Given the description of an element on the screen output the (x, y) to click on. 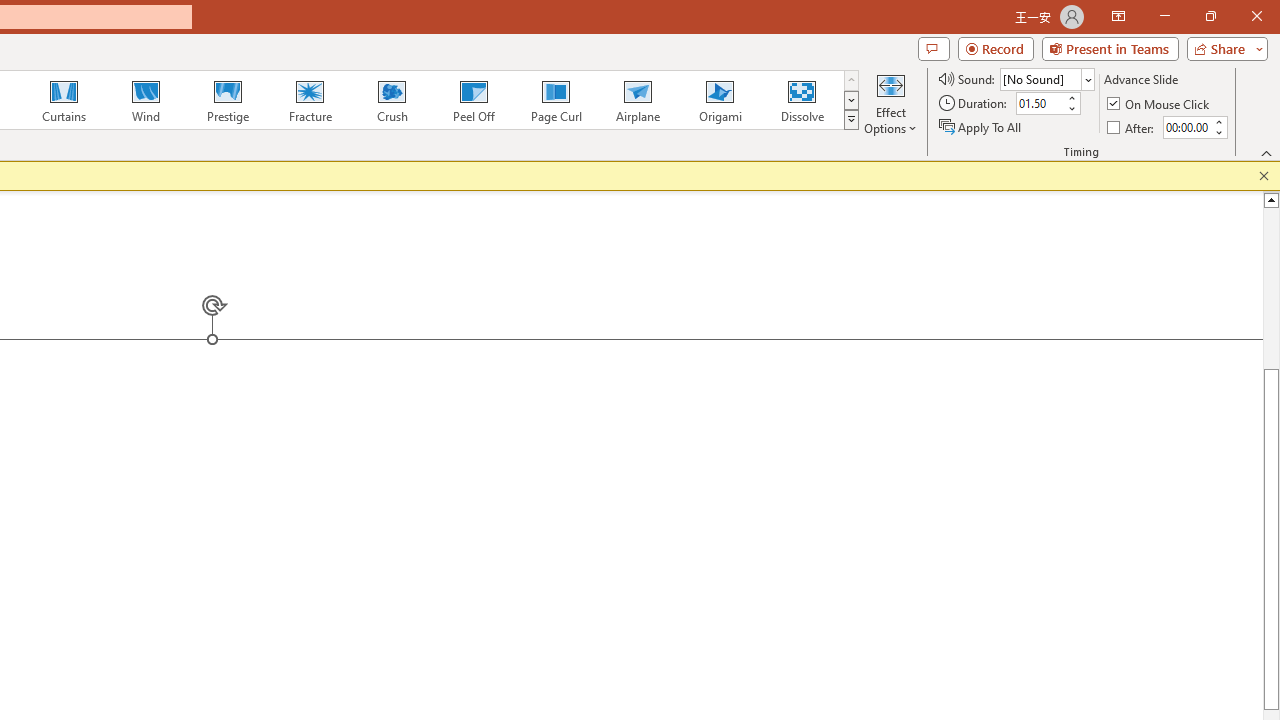
After (1186, 127)
Close this message (1263, 176)
Origami (719, 100)
Curtains (63, 100)
Sound (1046, 78)
Wind (145, 100)
On Mouse Click (1159, 103)
Peel Off (473, 100)
